Given the description of an element on the screen output the (x, y) to click on. 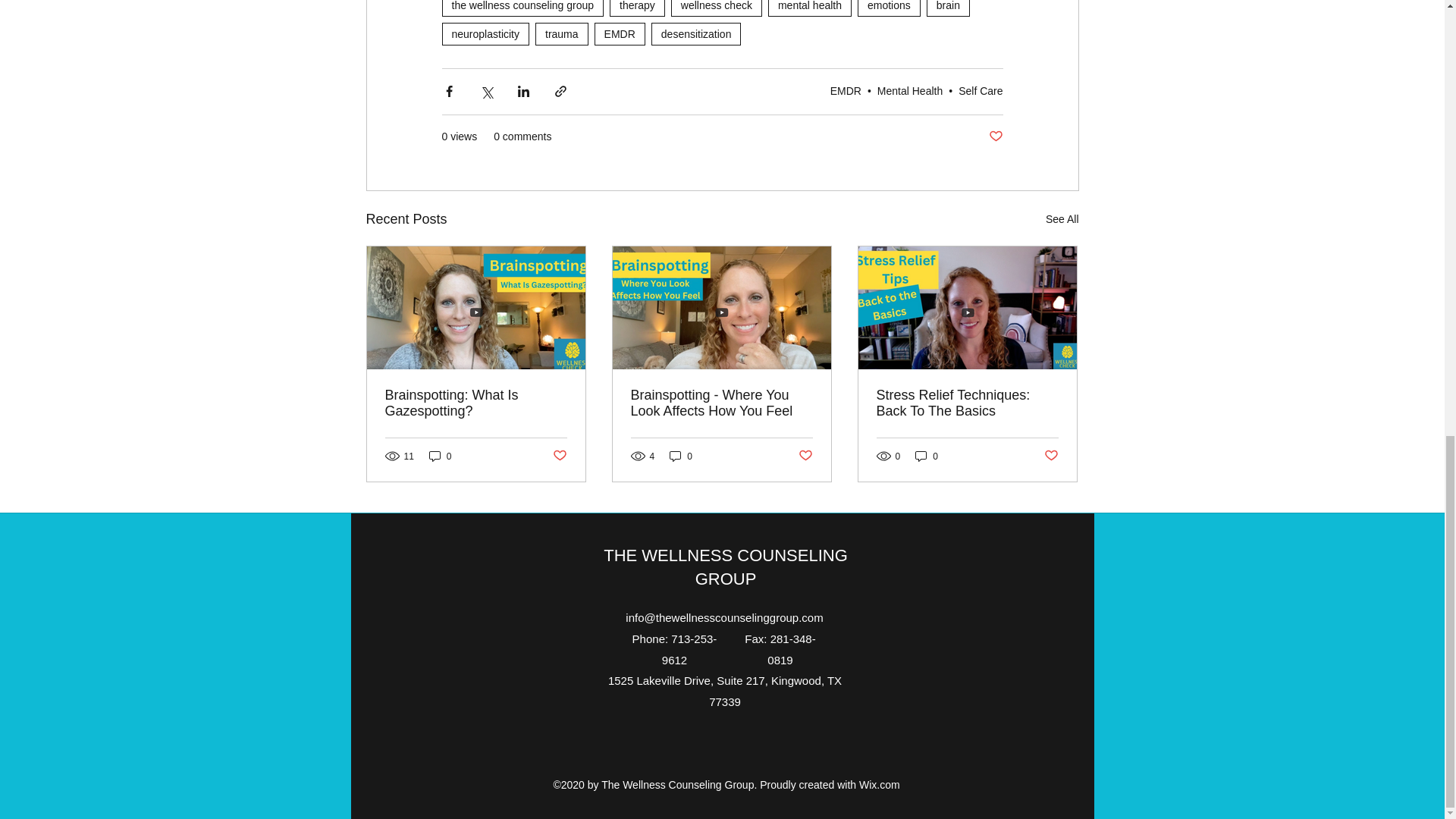
the wellness counseling group (522, 8)
brain (947, 8)
Mental Health (909, 91)
wellness check (716, 8)
EMDR (619, 33)
mental health (809, 8)
emotions (888, 8)
therapy (637, 8)
EMDR (845, 91)
trauma (561, 33)
neuroplasticity (485, 33)
desensitization (695, 33)
